Given the description of an element on the screen output the (x, y) to click on. 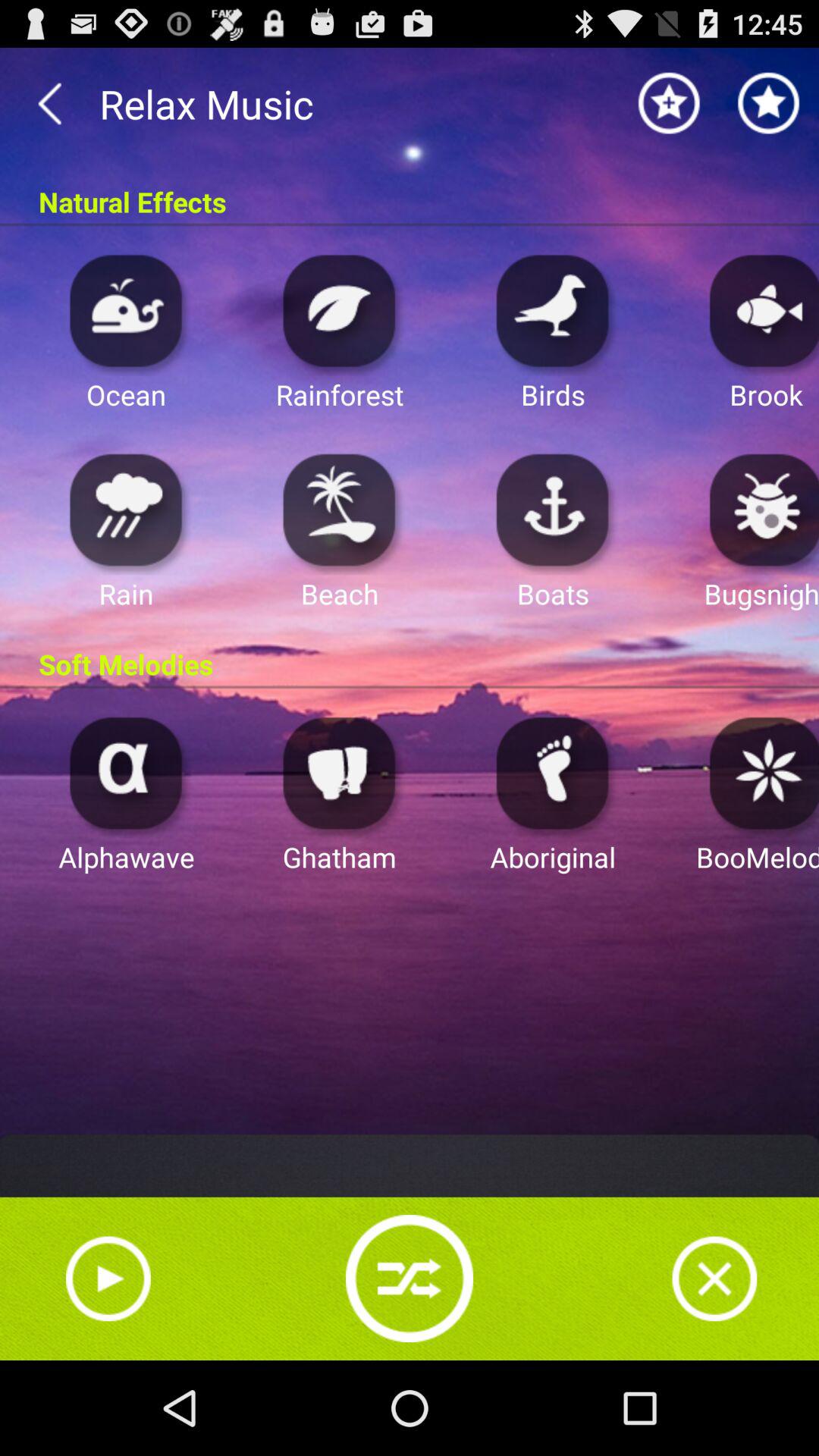
rating review (669, 103)
